Given the description of an element on the screen output the (x, y) to click on. 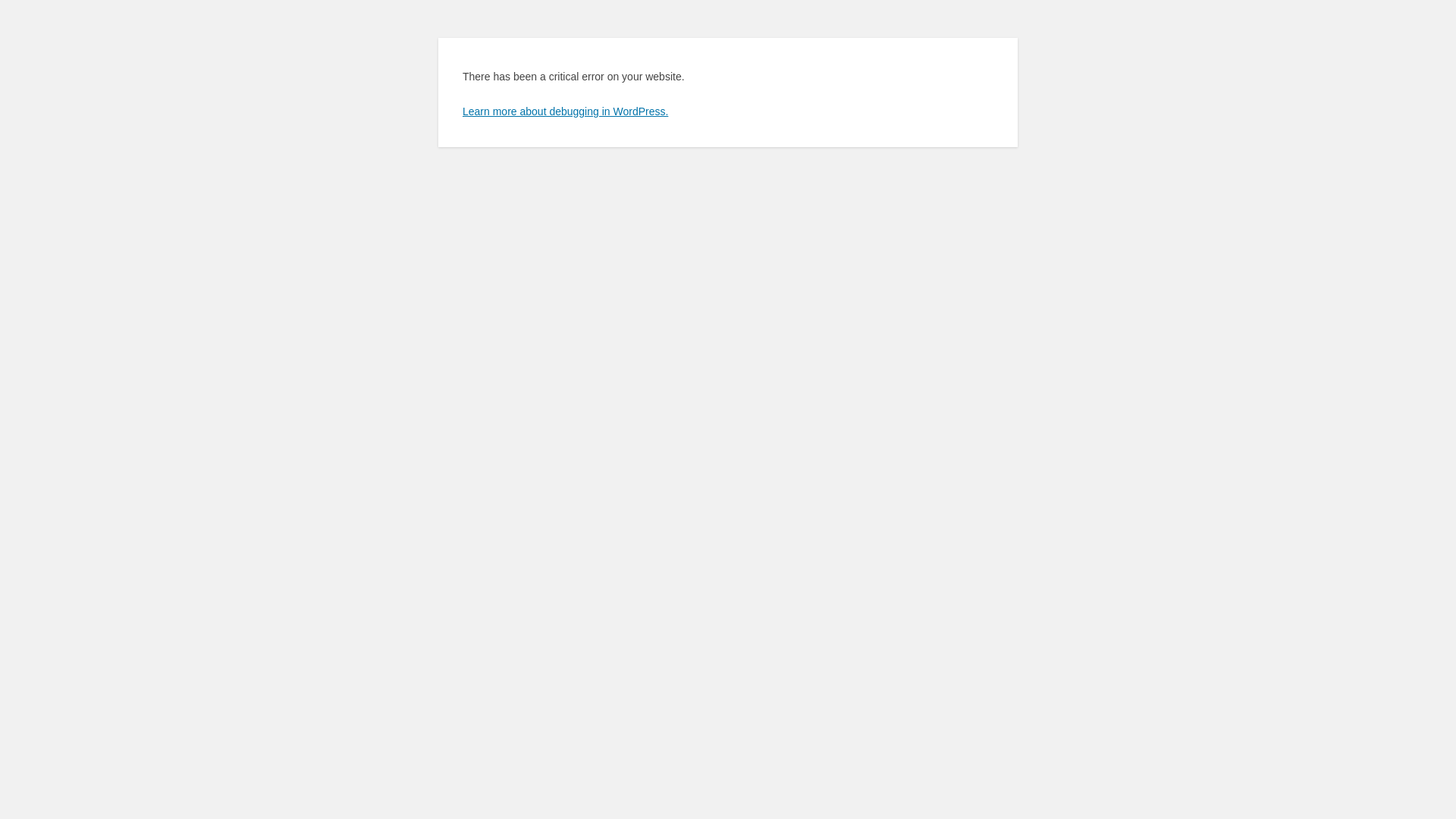
Learn more about debugging in WordPress. Element type: text (565, 111)
